Given the description of an element on the screen output the (x, y) to click on. 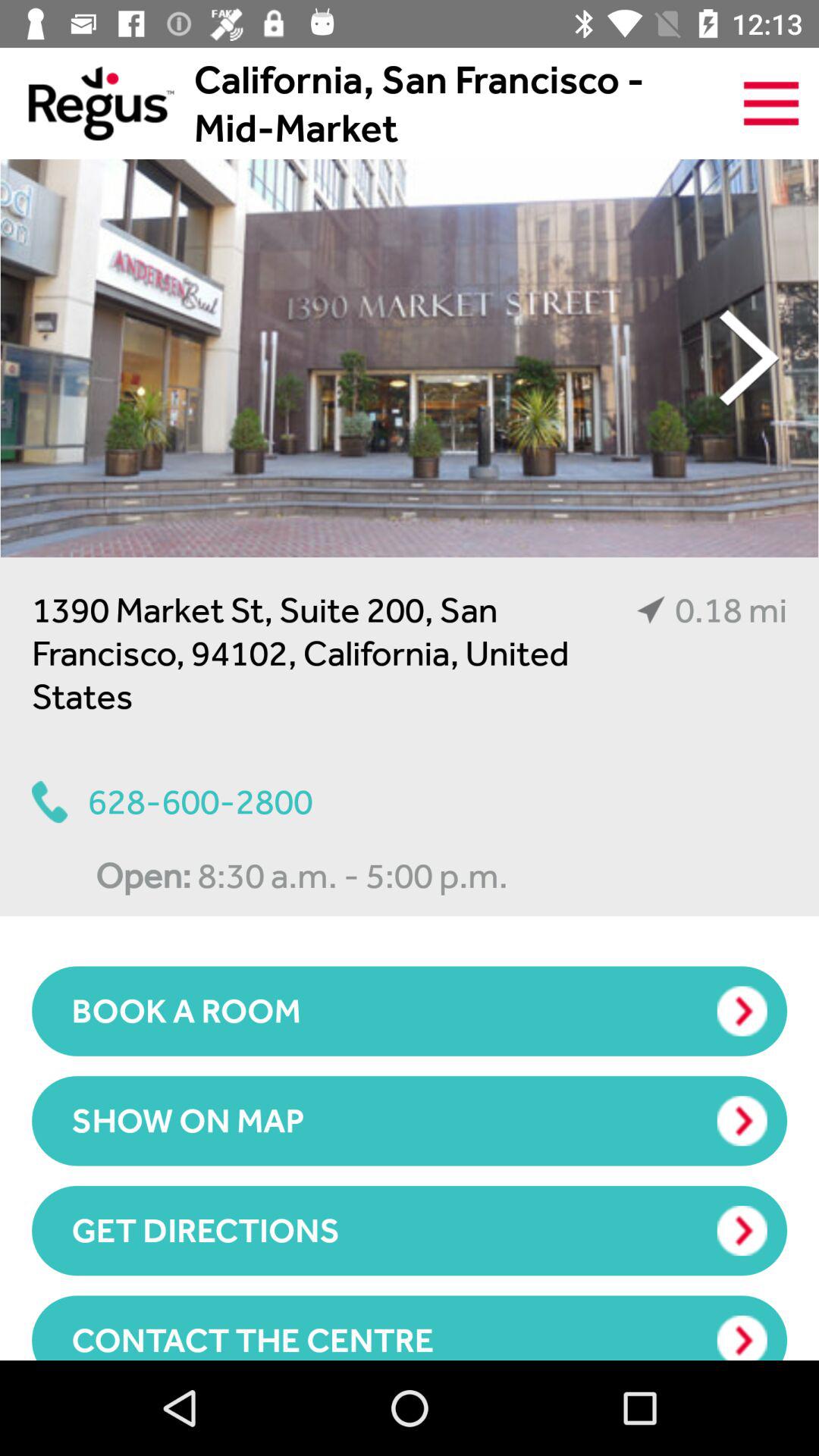
next image (749, 358)
